Given the description of an element on the screen output the (x, y) to click on. 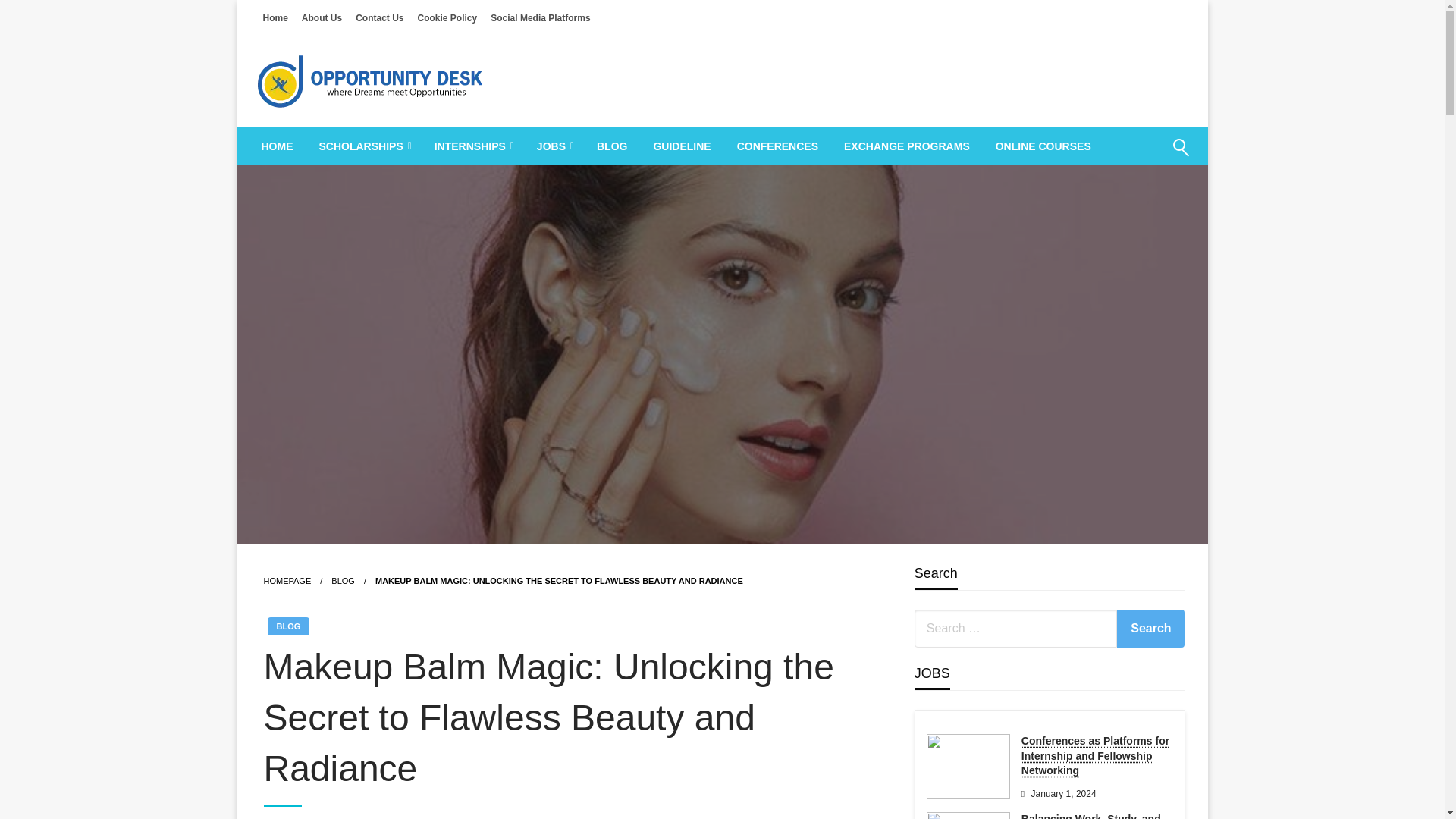
HOME (276, 146)
INTERNSHIPS (473, 146)
BLOG (611, 146)
EXCHANGE PROGRAMS (906, 146)
Homepage (287, 580)
HOMEPAGE (287, 580)
CONFERENCES (777, 146)
Search (1150, 628)
BLOG (343, 580)
